Given the description of an element on the screen output the (x, y) to click on. 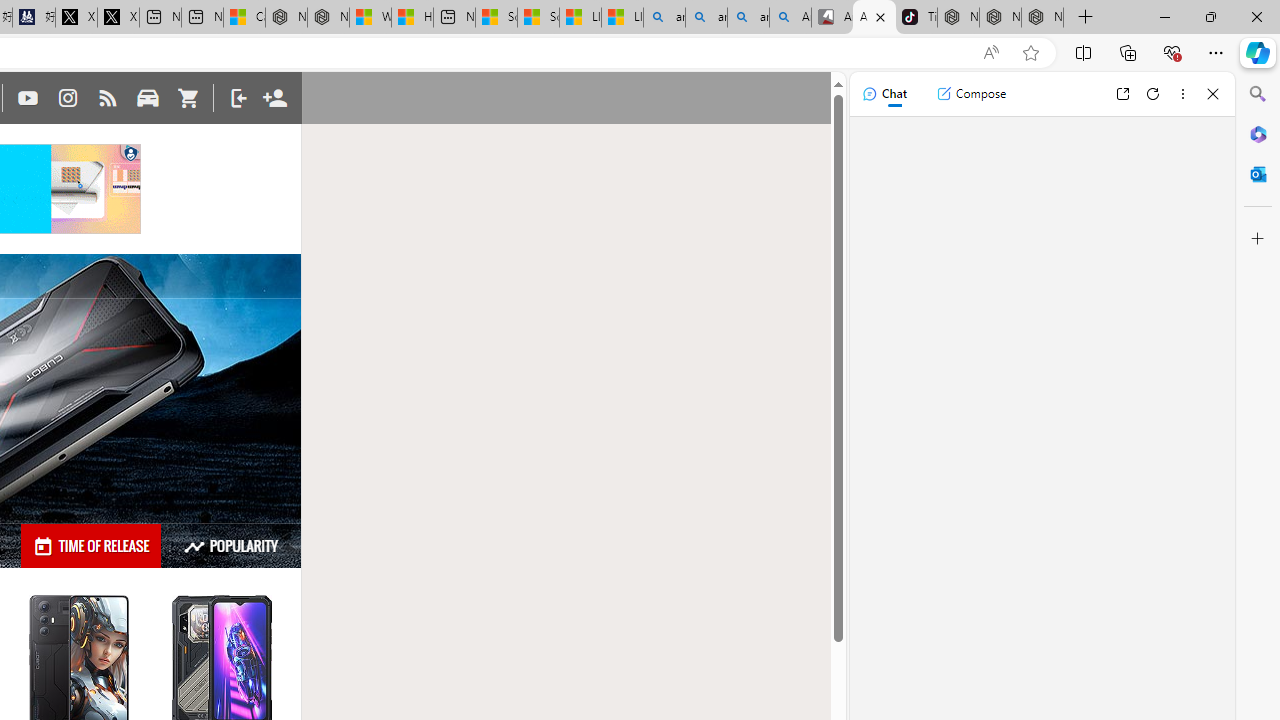
Privacy Notification (130, 154)
Outlook (1258, 174)
Open link in new tab (1122, 93)
To get missing image descriptions, open the context menu. (130, 154)
Nordace Siena Pro 15 Backpack (1000, 17)
